Given the description of an element on the screen output the (x, y) to click on. 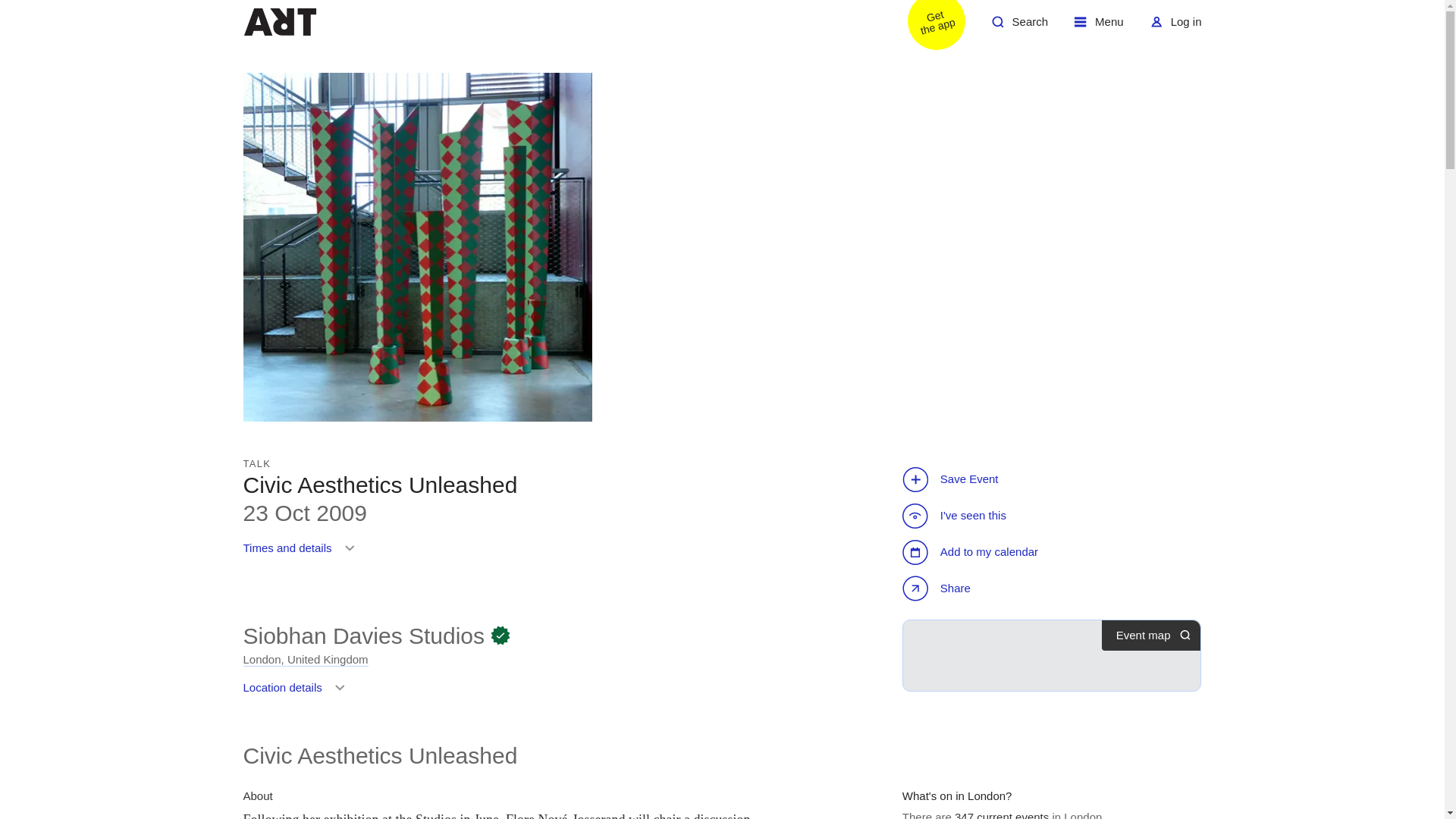
Siobhan Davies Studios (1019, 26)
347 current events (302, 553)
Welcome to ArtRabbit (363, 635)
London, United Kingdom (926, 27)
Add to my calendar (1176, 26)
Share (1001, 814)
What's on in London? (279, 22)
